Given the description of an element on the screen output the (x, y) to click on. 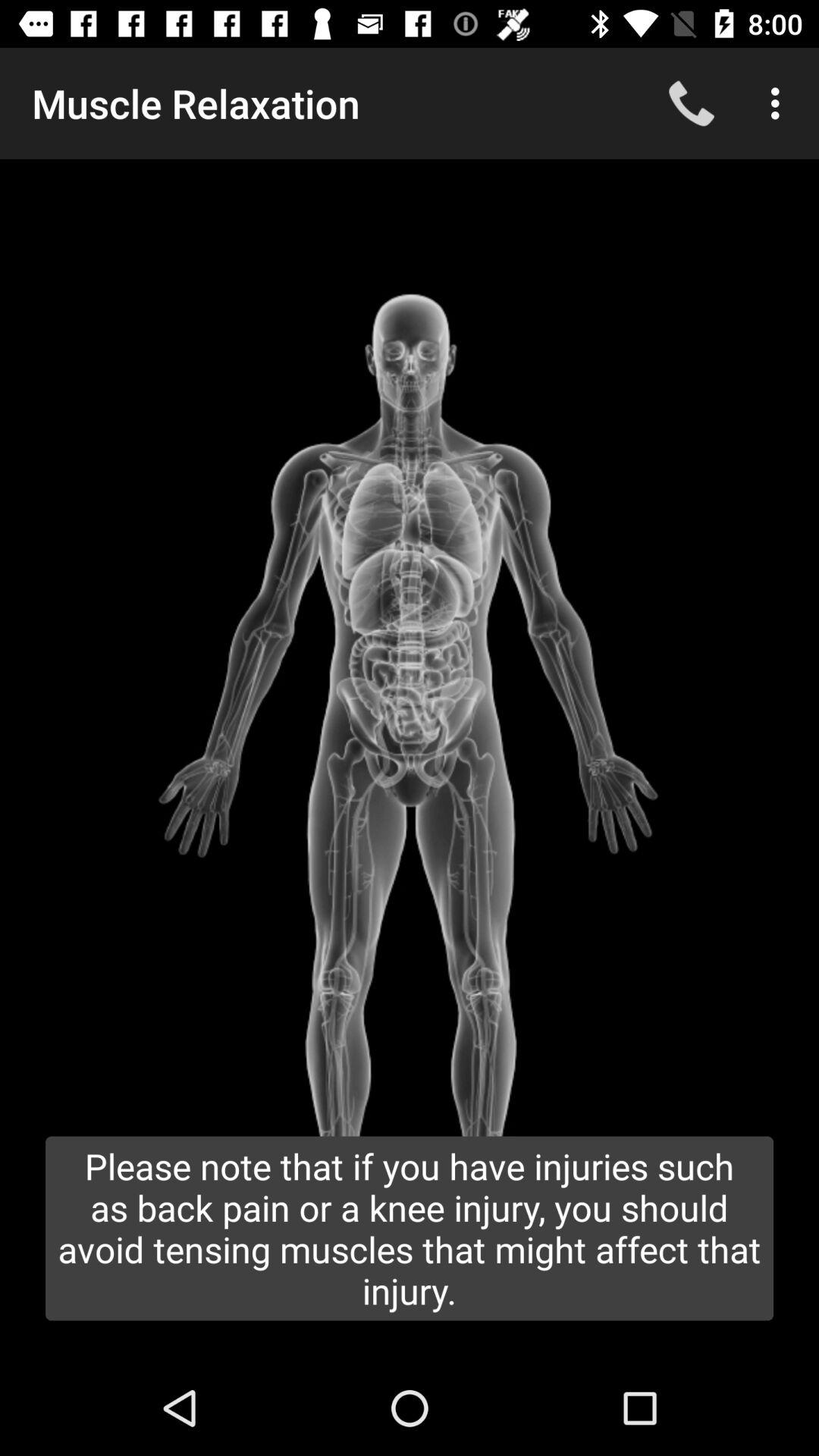
turn off the icon next to muscle relaxation (691, 103)
